Given the description of an element on the screen output the (x, y) to click on. 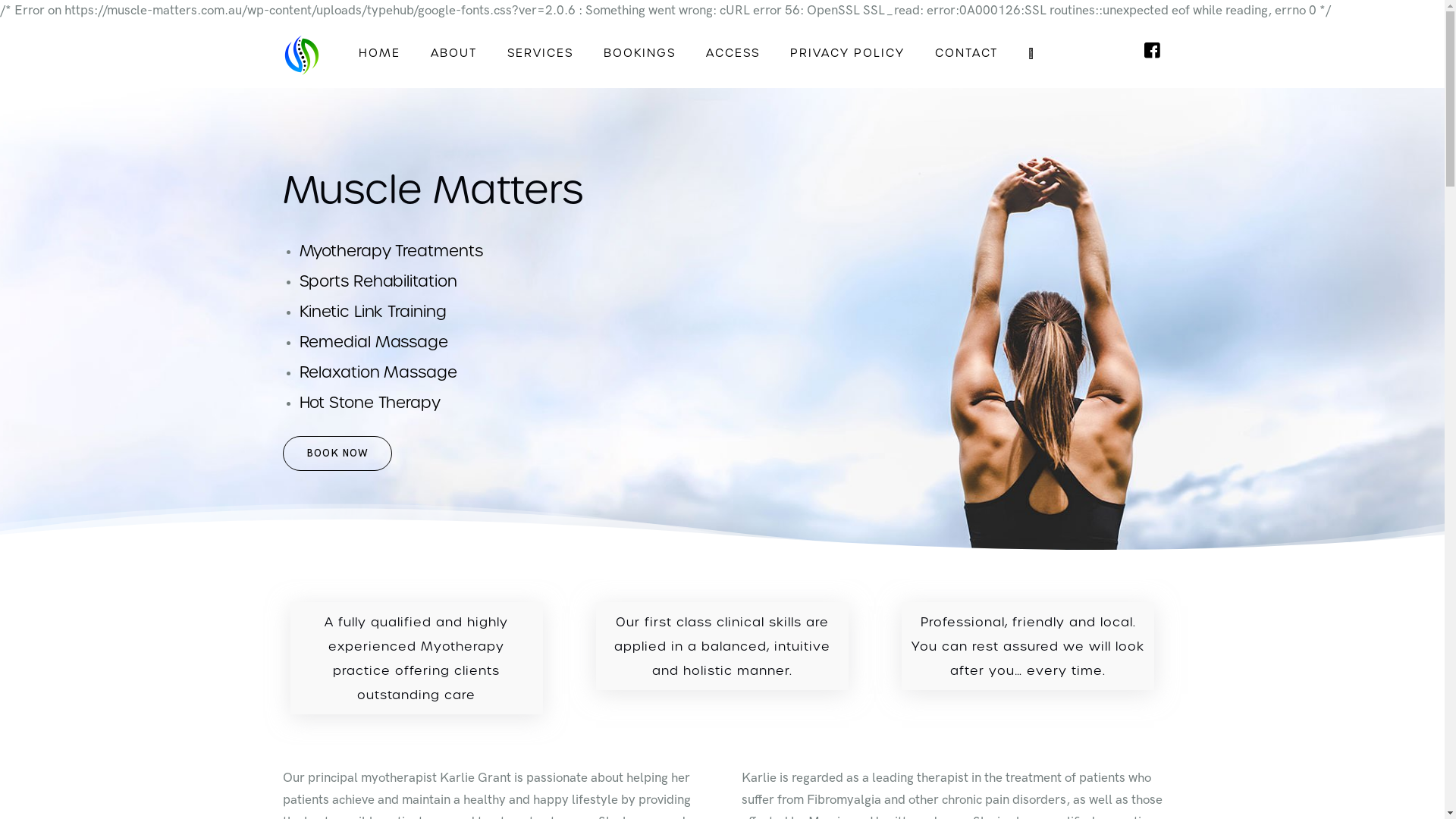
HOME Element type: text (378, 52)
Relaxation Massage Element type: text (378, 371)
ABOUT Element type: text (453, 52)
Hot Stone Therapy Element type: text (369, 401)
ACCESS Element type: text (732, 52)
BOOK NOW Element type: text (336, 453)
Myotherapy Treatments Element type: text (391, 250)
SERVICES Element type: text (539, 52)
CONTACT Element type: text (965, 52)
PRIVACY POLICY Element type: text (847, 52)
Sports Rehabilitation Element type: text (378, 280)
BOOKINGS Element type: text (639, 52)
Remedial Massage Element type: text (373, 341)
Kinetic Link Training Element type: text (372, 310)
